Given the description of an element on the screen output the (x, y) to click on. 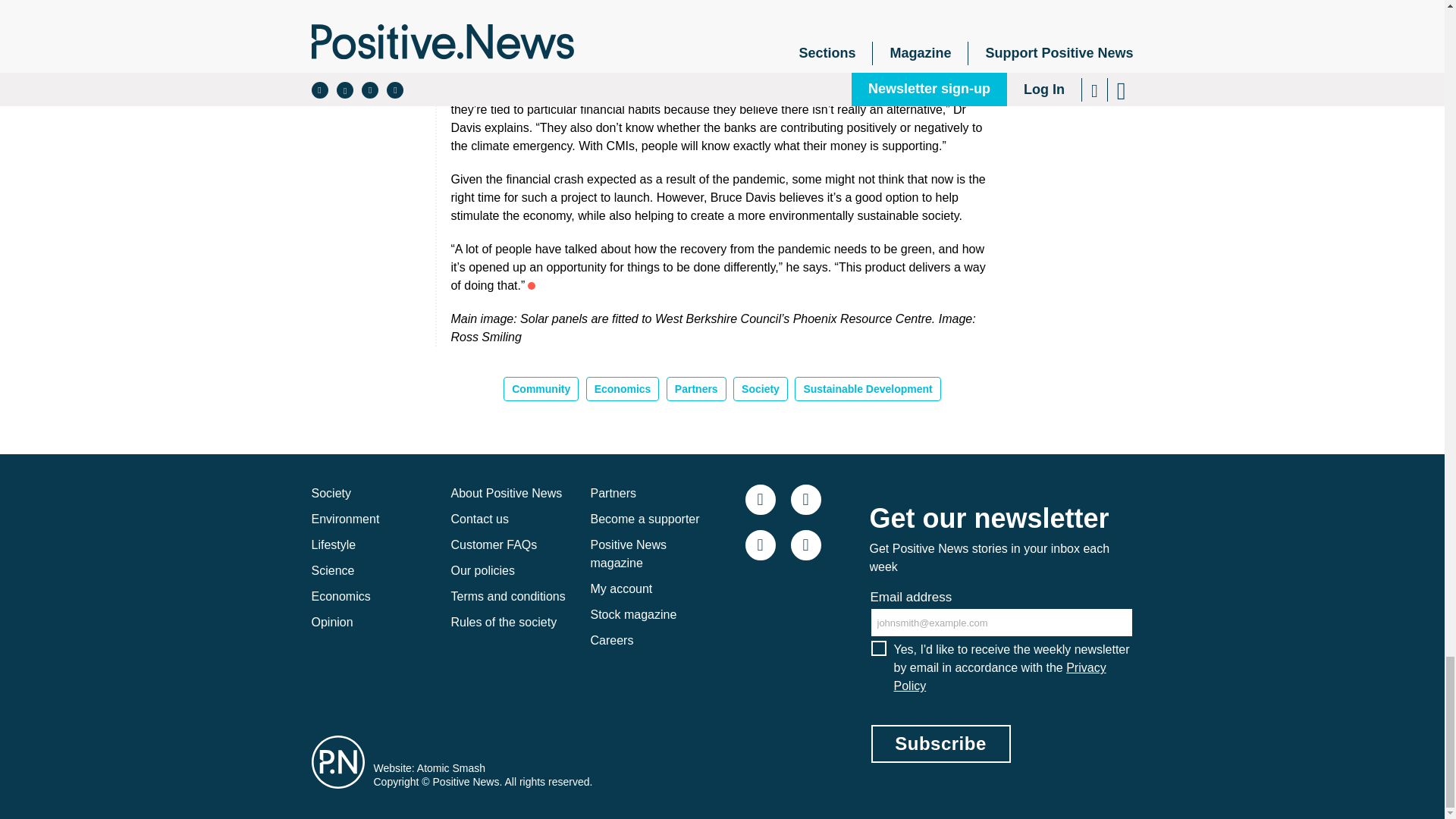
Economics (622, 388)
Community (540, 388)
